Given the description of an element on the screen output the (x, y) to click on. 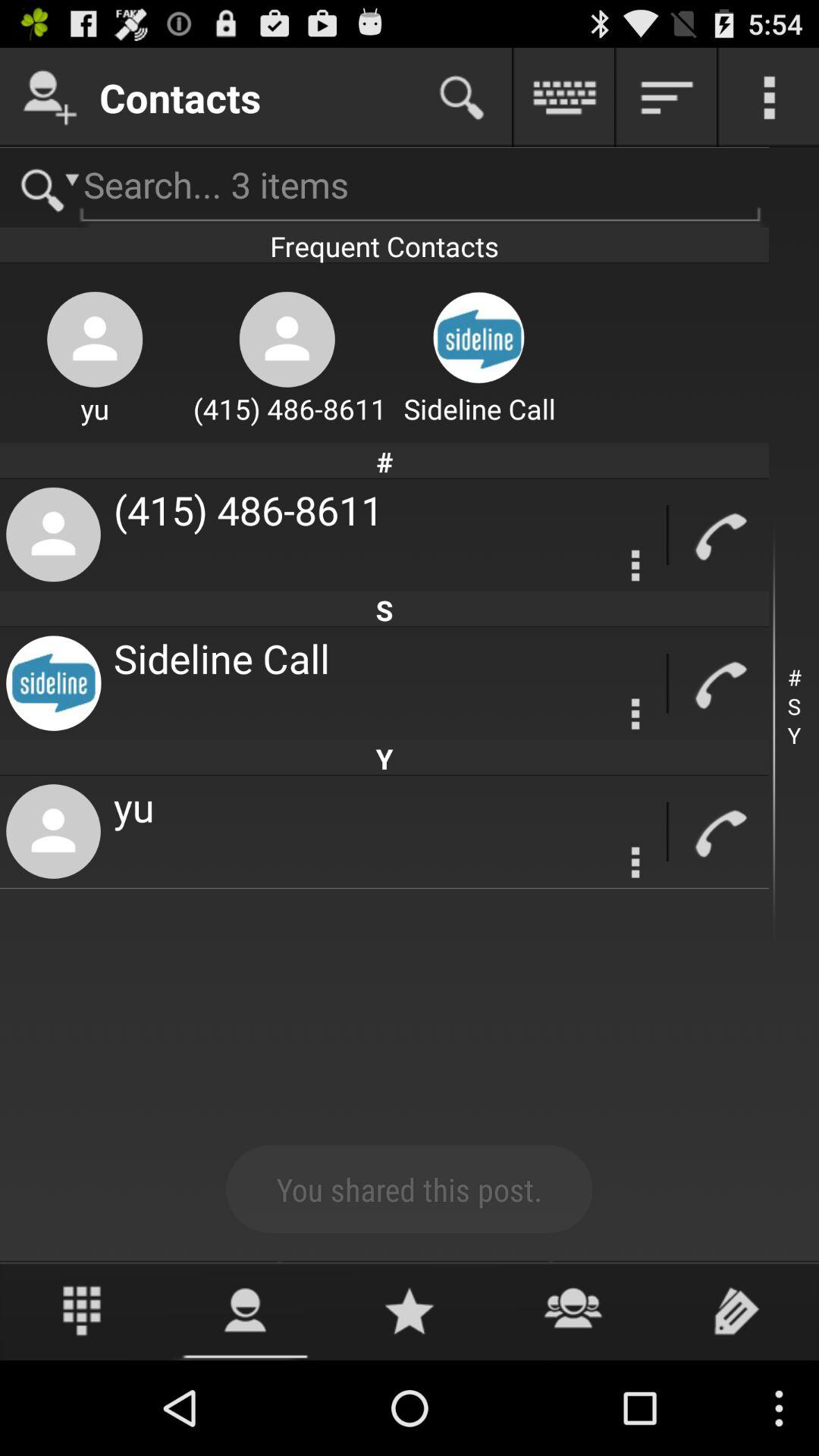
phone button (718, 831)
